Given the description of an element on the screen output the (x, y) to click on. 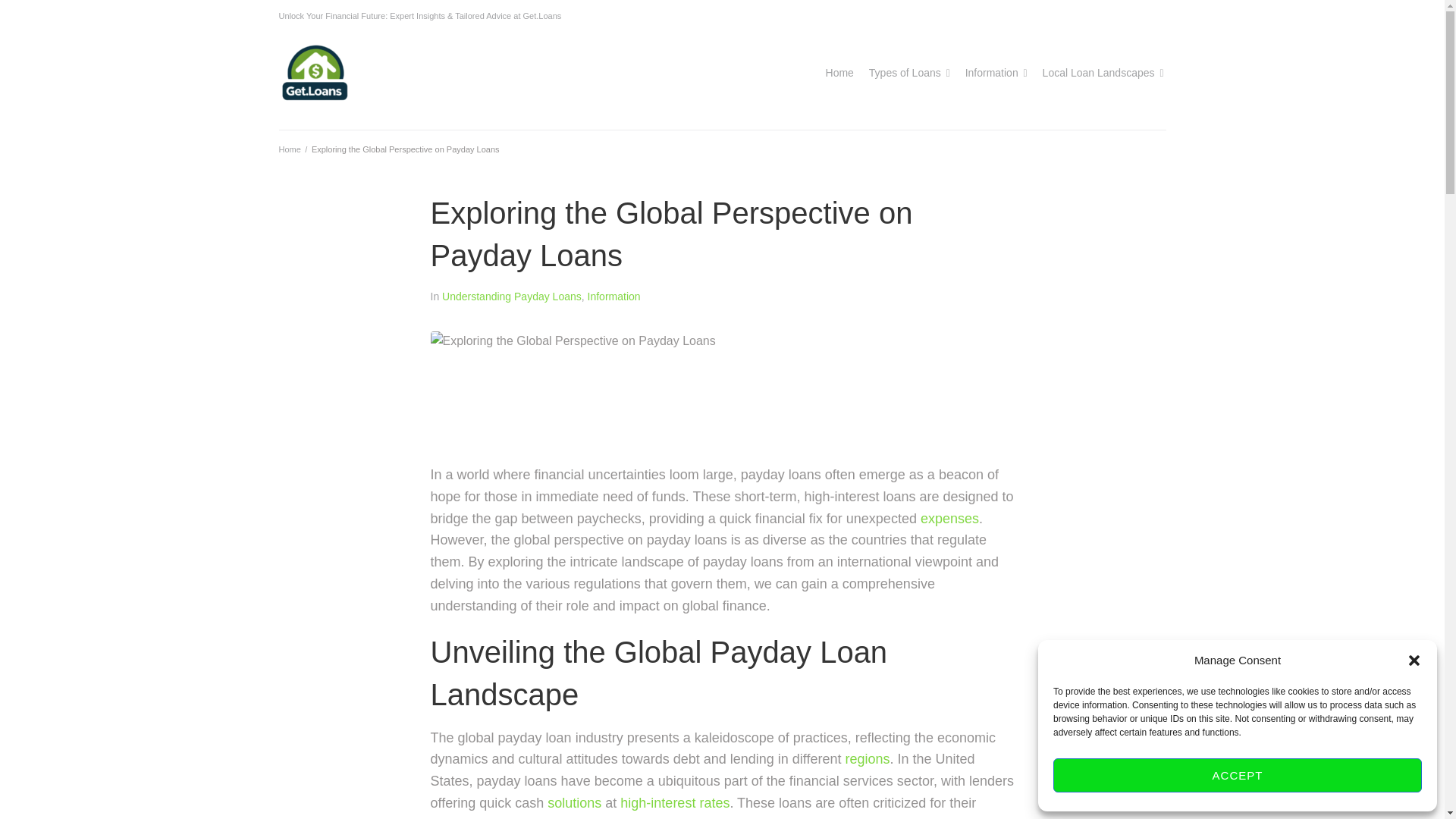
Posts tagged with expenses (949, 518)
Home (839, 73)
Posts tagged with regions (867, 758)
Posts tagged with solutions (574, 802)
Types of Loans (904, 73)
Posts tagged with high-interest rates (674, 802)
Home (290, 148)
ACCEPT (1237, 775)
Local Loan Landscapes (1098, 73)
Information (991, 73)
Posts tagged with borrowers (621, 818)
